Given the description of an element on the screen output the (x, y) to click on. 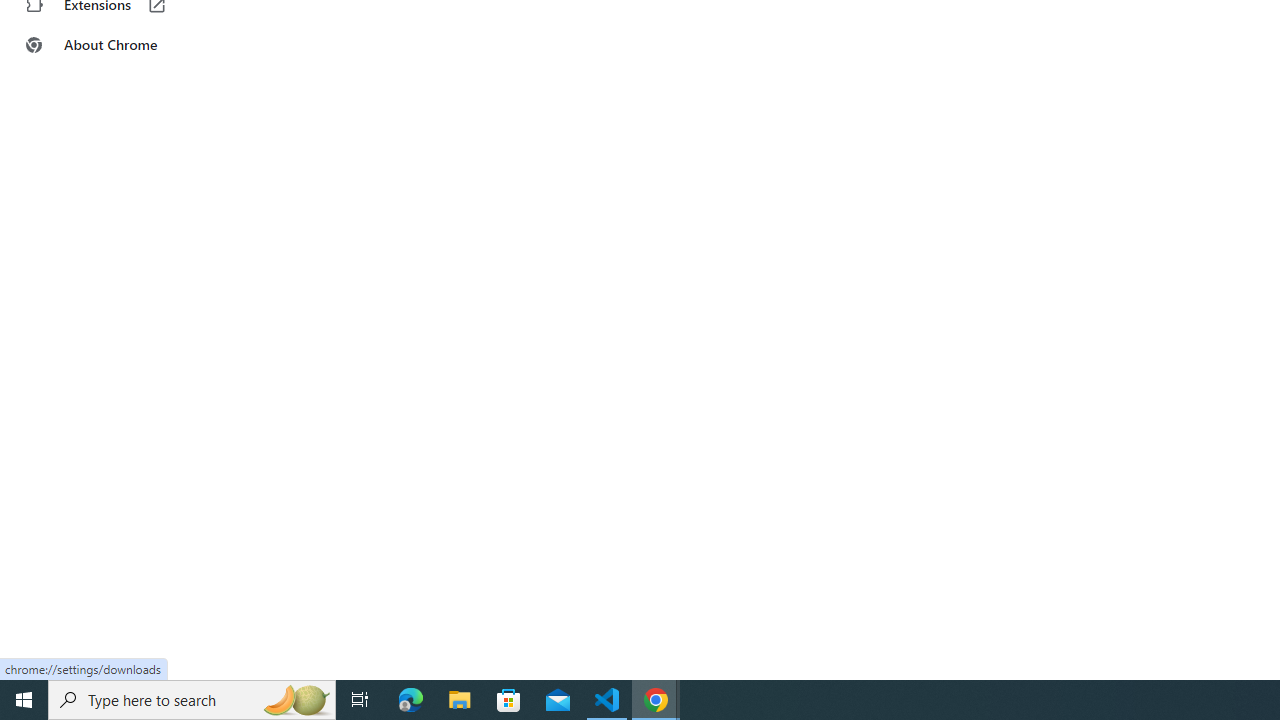
About Chrome (124, 44)
